Given the description of an element on the screen output the (x, y) to click on. 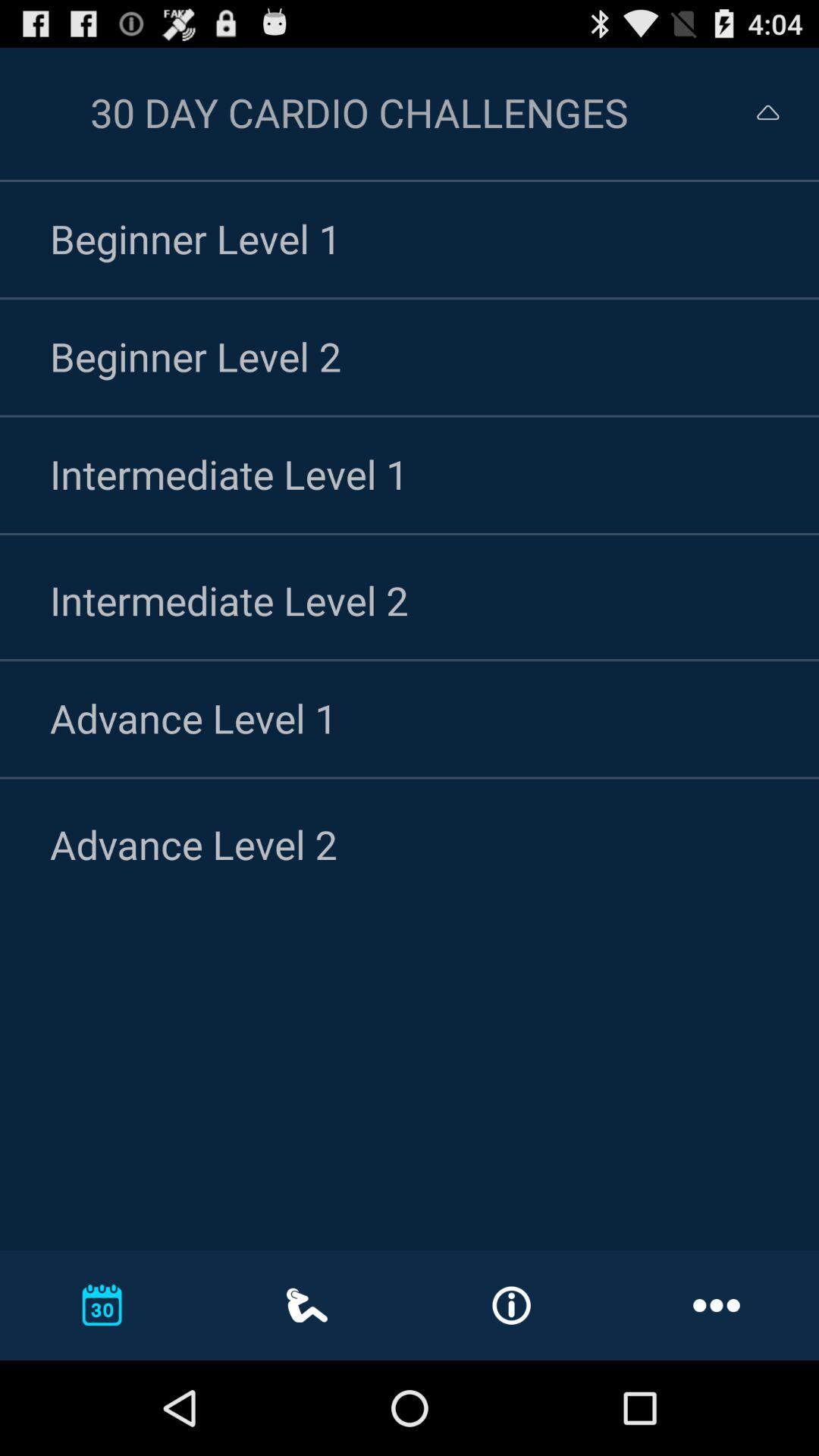
return to the previous screen (754, 112)
